Given the description of an element on the screen output the (x, y) to click on. 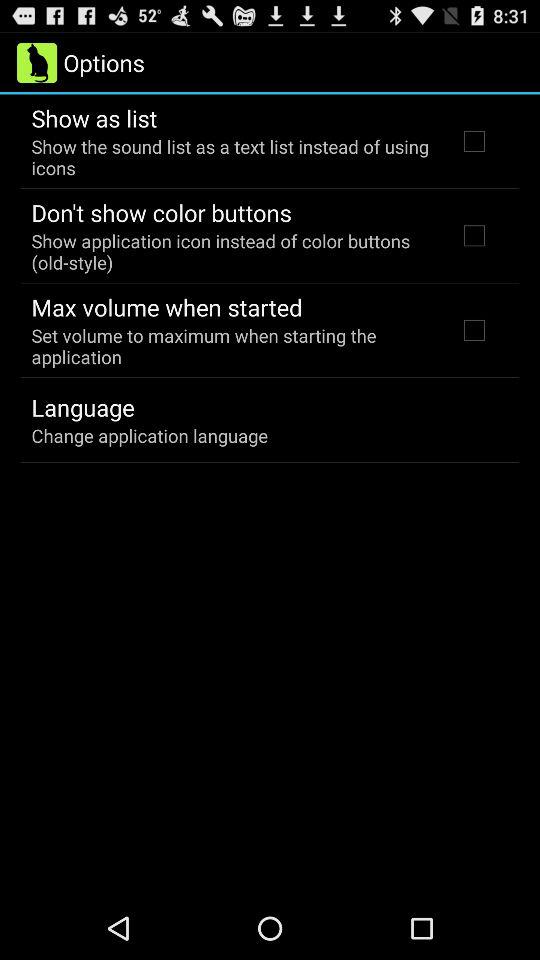
click the set volume to app (231, 346)
